Given the description of an element on the screen output the (x, y) to click on. 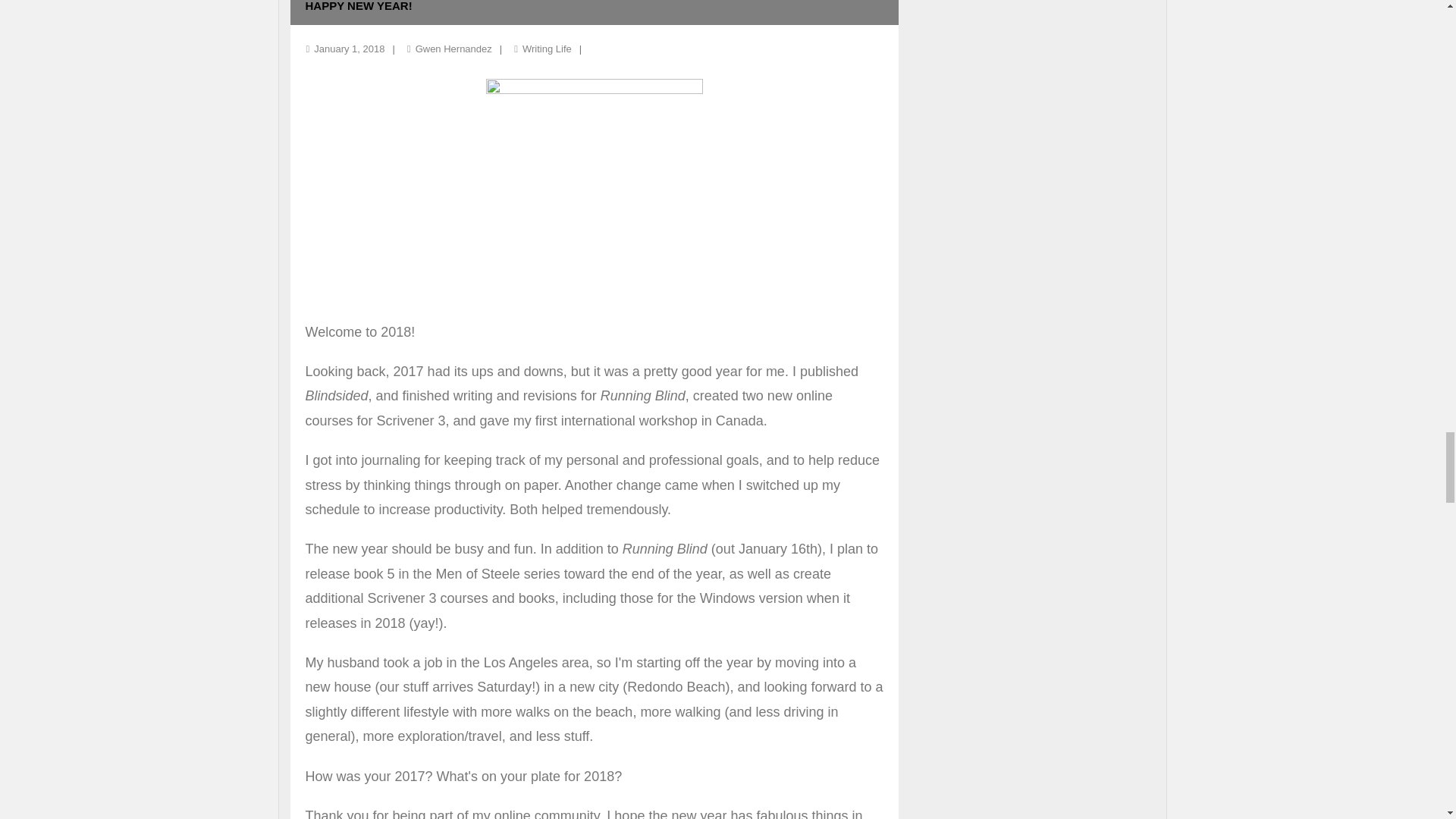
Permalink to Happy New Year! (358, 6)
View all posts by Gwen Hernandez (453, 48)
Happy New Year! (349, 48)
